Given the description of an element on the screen output the (x, y) to click on. 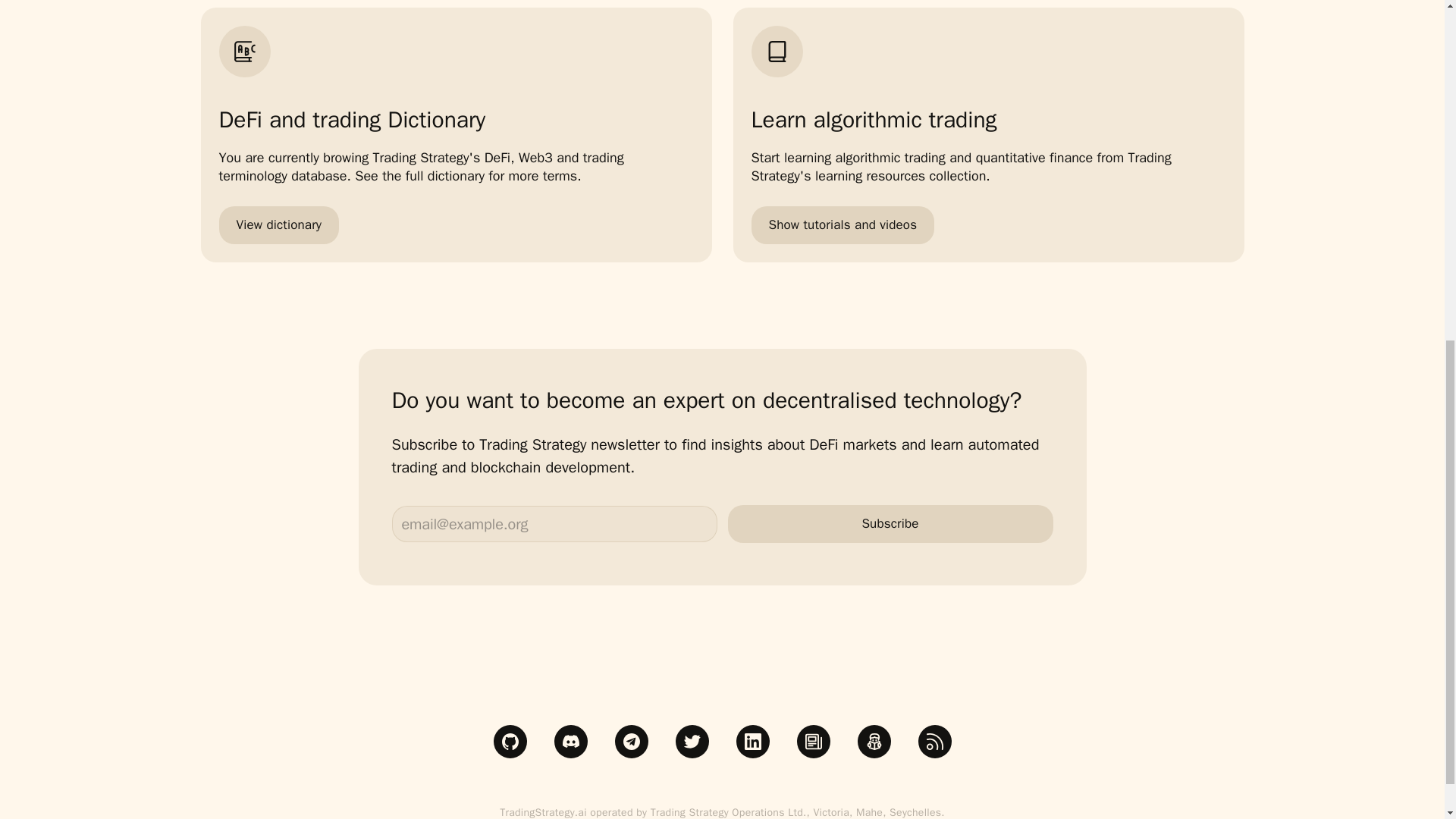
Telegram (630, 741)
Twitter (691, 741)
GitHub (509, 741)
LinkedIn (751, 741)
Blog (873, 741)
RSS (933, 741)
Discord (569, 741)
Newsletter (812, 741)
